Given the description of an element on the screen output the (x, y) to click on. 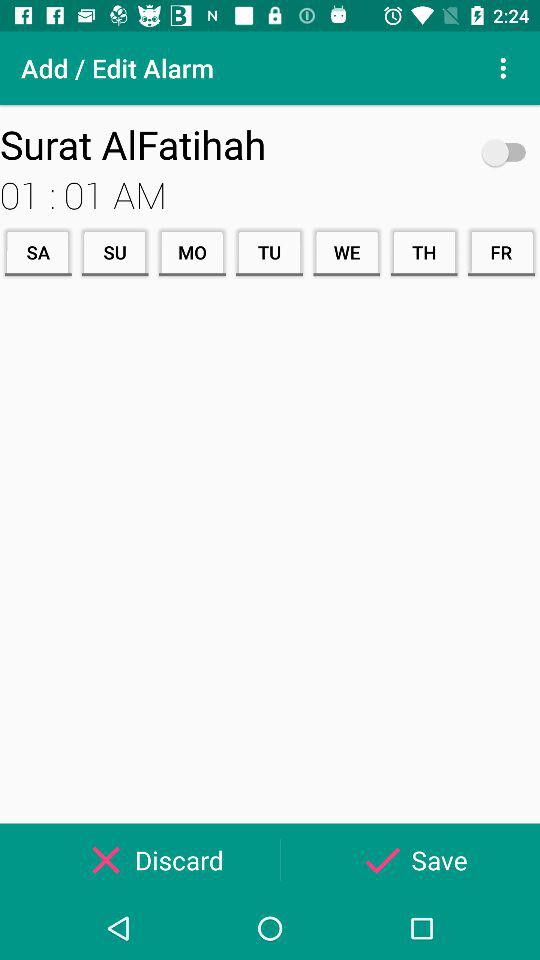
launch the icon below 01 : 01 am (269, 251)
